Given the description of an element on the screen output the (x, y) to click on. 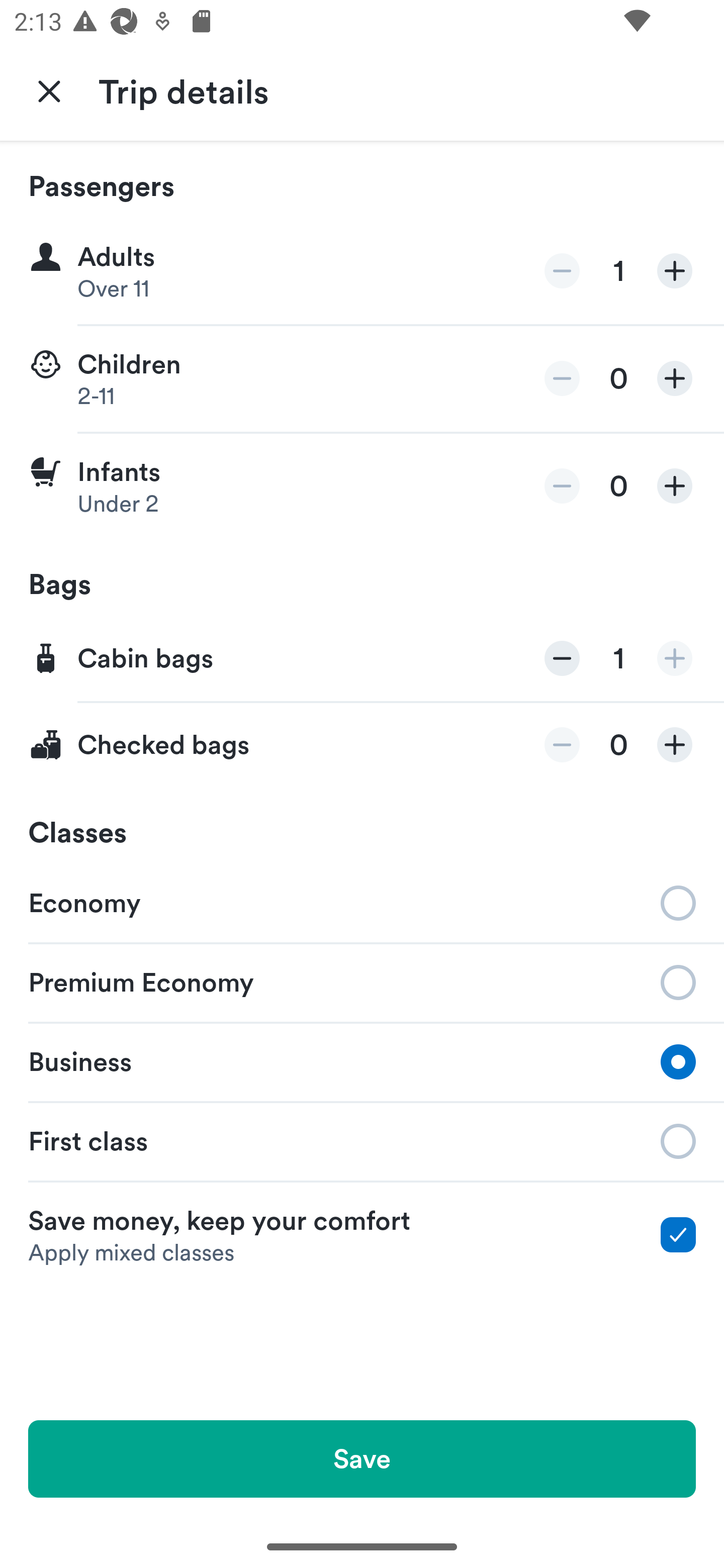
Navigate up (49, 90)
Remove 1 Add Adults Over 11 (362, 271)
Remove (561, 270)
Add (674, 270)
Remove 0 Add Children 2-11 (362, 379)
Remove (561, 377)
Add (674, 377)
Remove 0 Add Infants Under 2 (362, 485)
Remove (561, 485)
Add (674, 485)
Remove 1 Add Cabin bags (362, 659)
Remove (561, 658)
Add (674, 658)
Remove 0 Add Checked bags (362, 744)
Remove (561, 744)
Add (674, 744)
Economy (362, 901)
Premium Economy (362, 980)
First class (362, 1141)
Save (361, 1458)
